Given the description of an element on the screen output the (x, y) to click on. 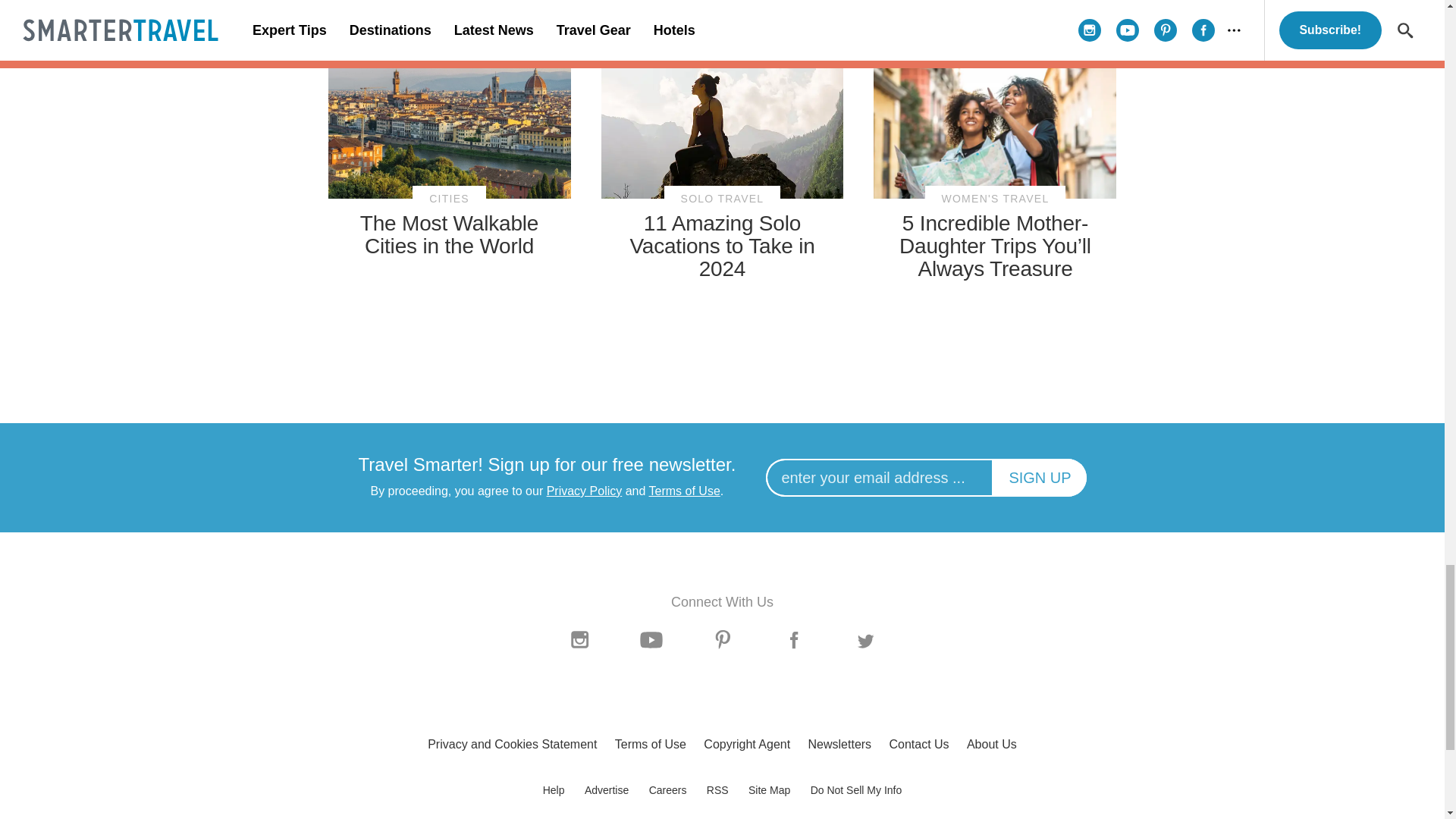
View all posts in Solo Travel (721, 198)
View all posts in Women's Travel (994, 198)
View all posts in Cities (449, 198)
